Given the description of an element on the screen output the (x, y) to click on. 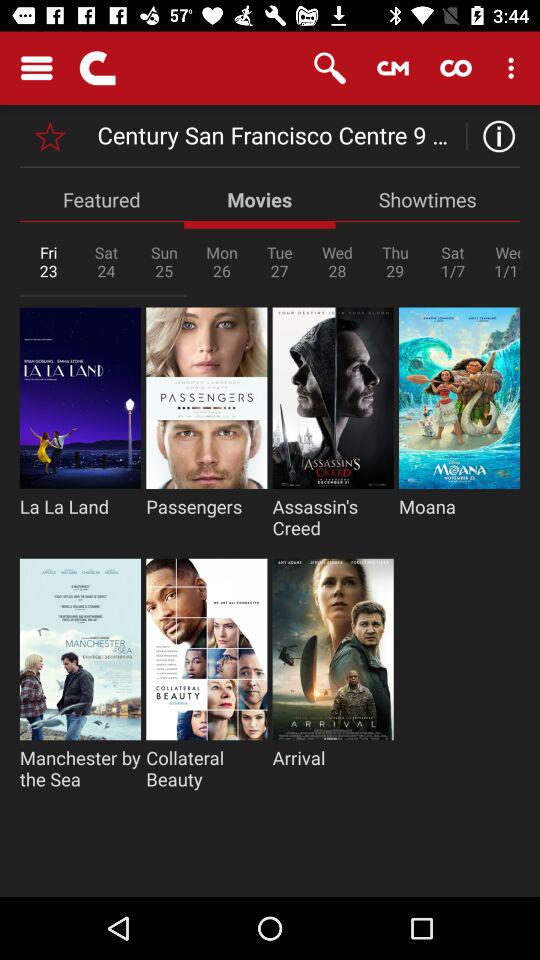
bookmark location (49, 136)
